Given the description of an element on the screen output the (x, y) to click on. 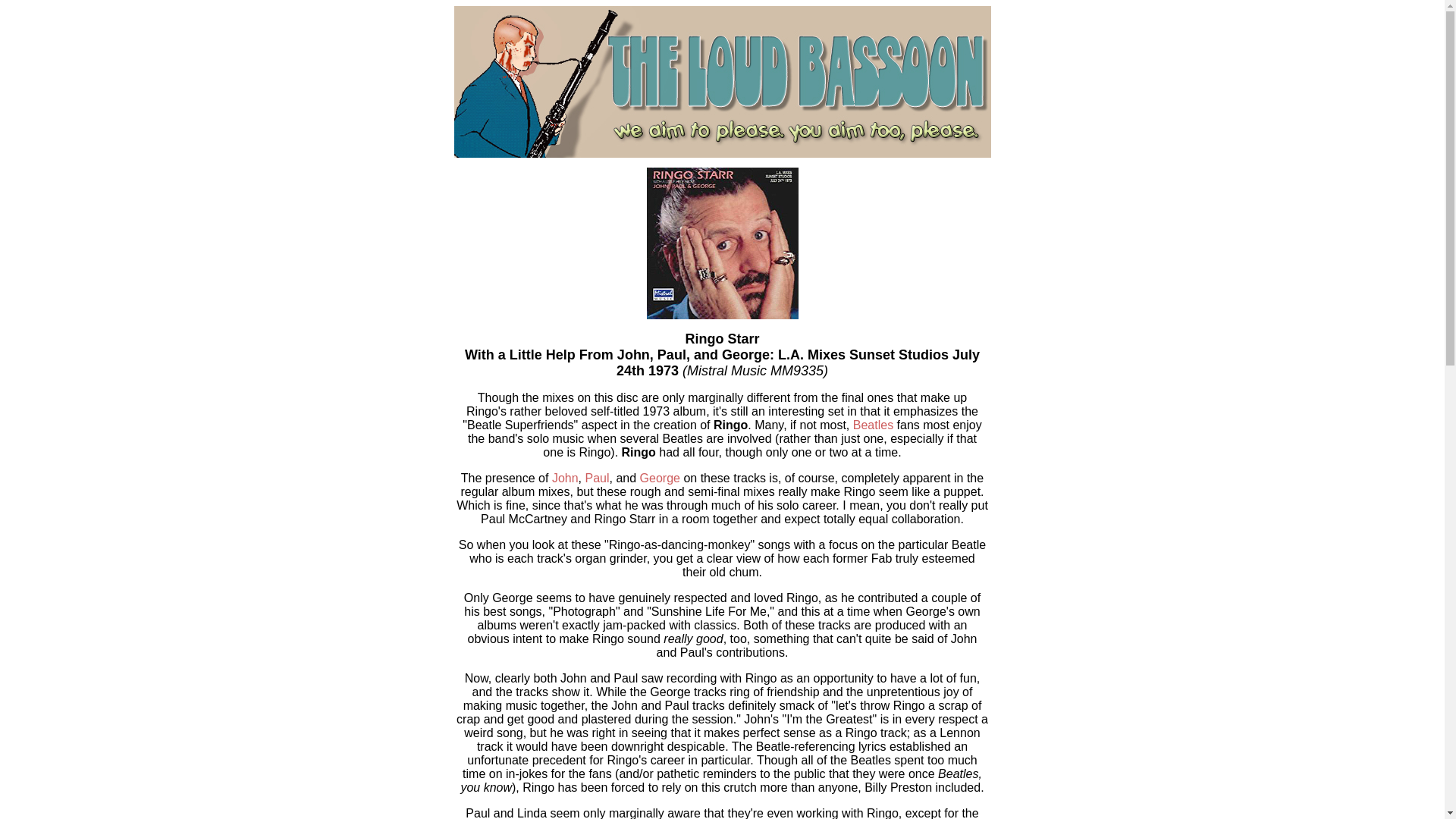
Paul (597, 477)
The Loud Bassoon (721, 81)
Beatles (873, 424)
George (659, 477)
John (564, 477)
